Given the description of an element on the screen output the (x, y) to click on. 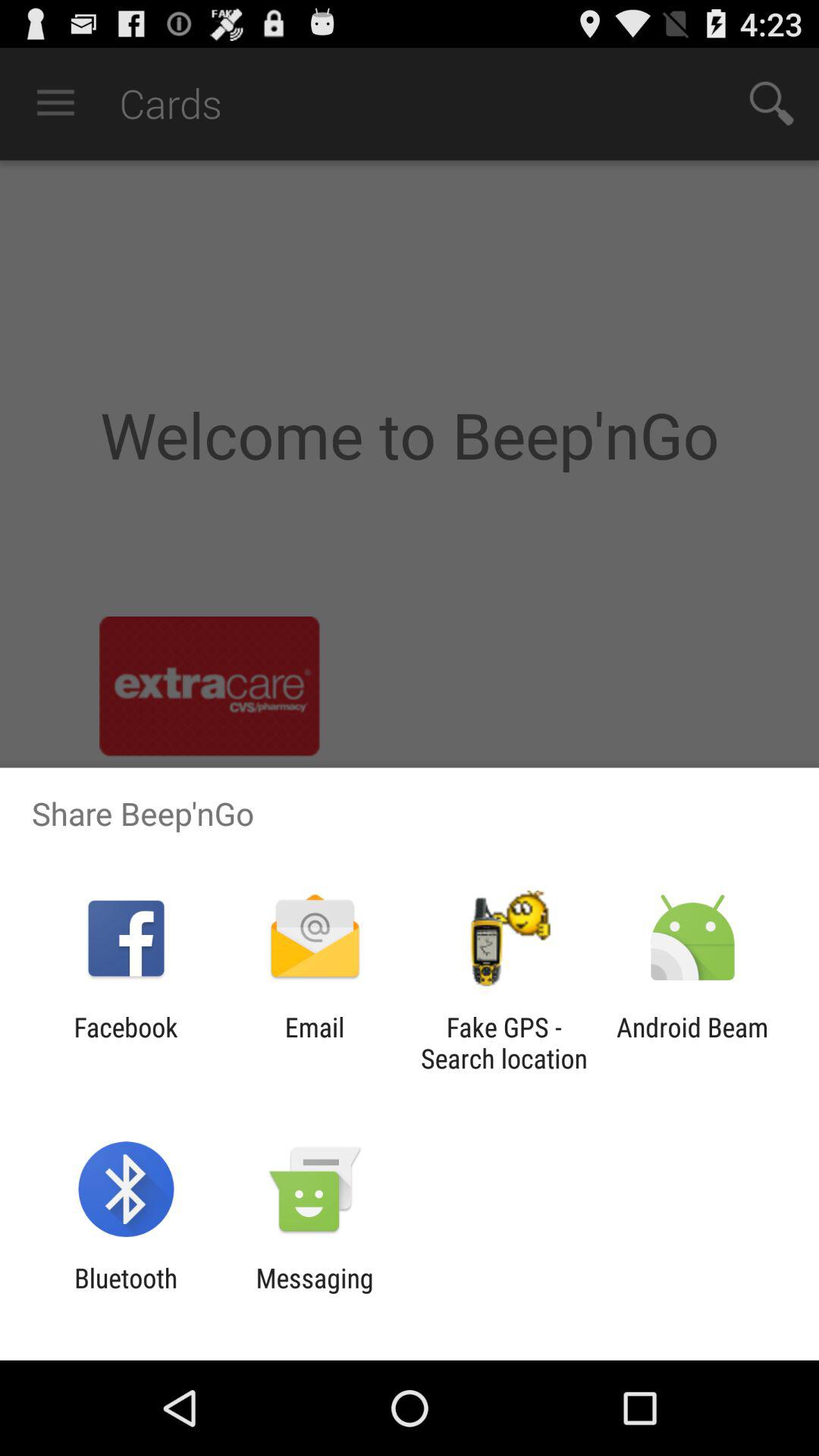
scroll to the messaging icon (314, 1293)
